Given the description of an element on the screen output the (x, y) to click on. 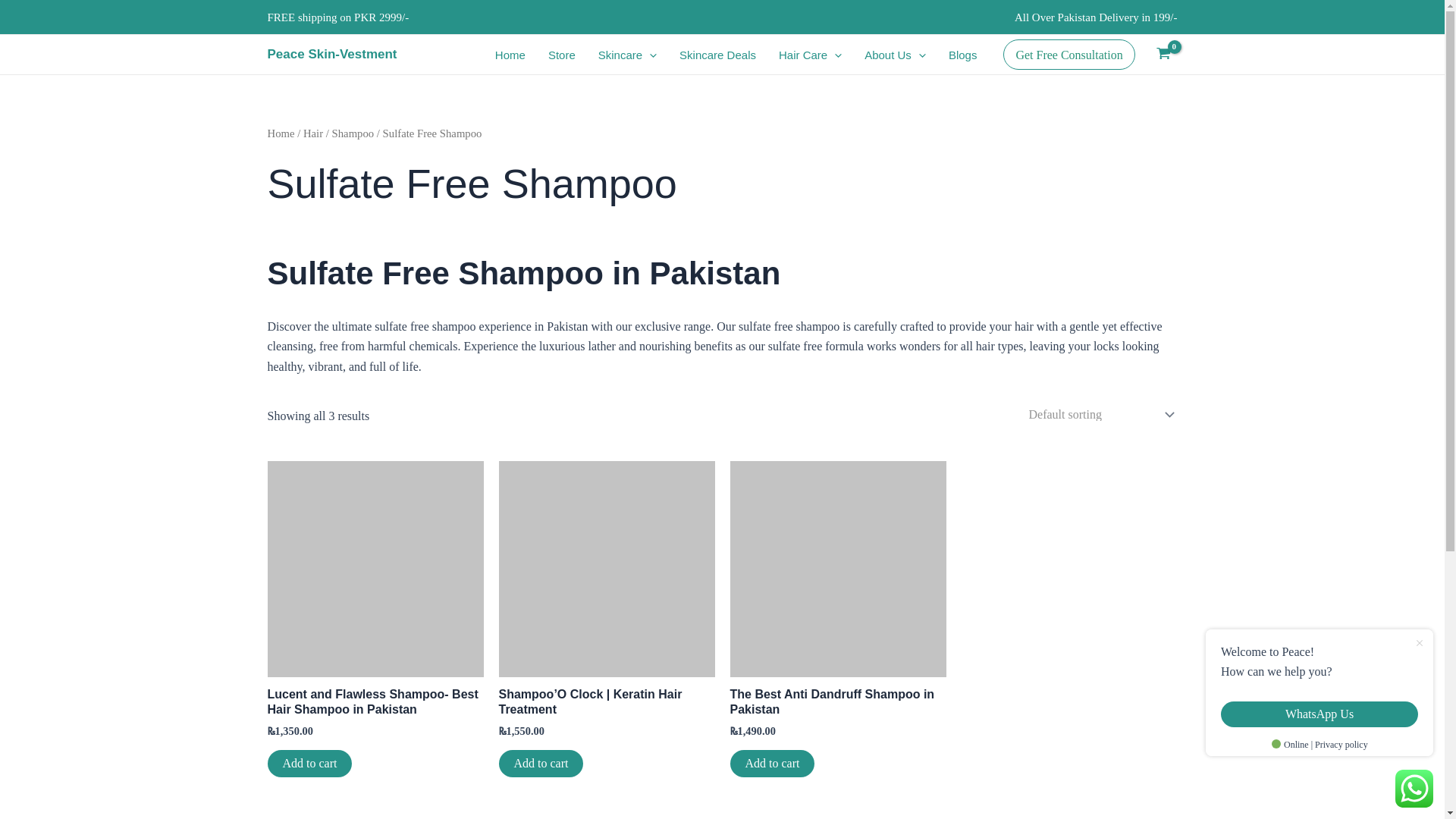
Skincare (627, 54)
Store (561, 54)
Get Free Consultation (1068, 54)
Peace Skin-Vestment (331, 53)
Skincare Deals (717, 54)
Hair Care (810, 54)
Blogs (962, 54)
About Us (895, 54)
Home (510, 54)
